Given the description of an element on the screen output the (x, y) to click on. 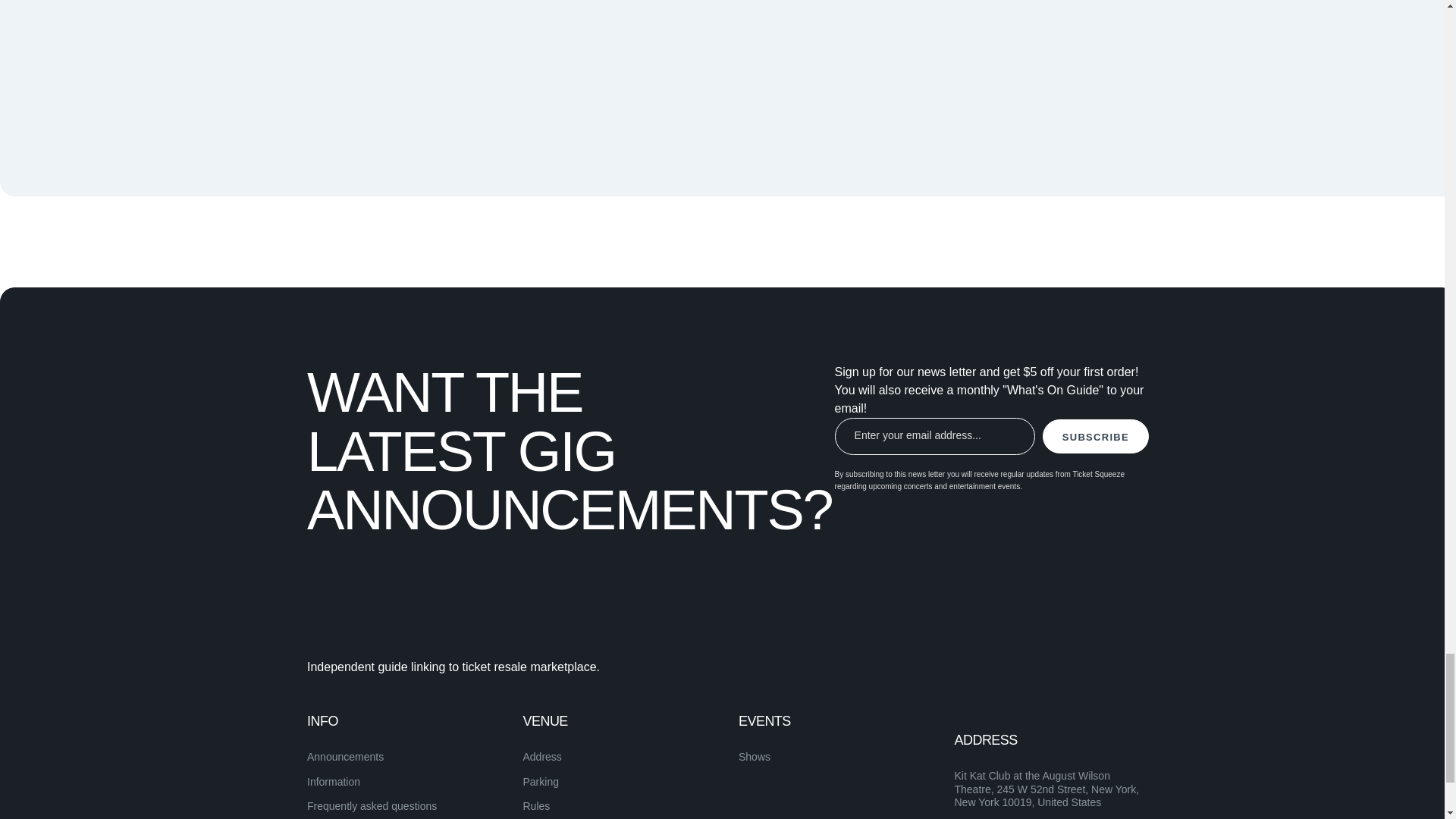
Information (333, 781)
venue map (905, 52)
Parking (540, 781)
Rules (536, 806)
Announcements (345, 756)
Address (542, 756)
Shows (754, 756)
SUBSCRIBE (1095, 436)
Frequently asked questions (371, 806)
